Given the description of an element on the screen output the (x, y) to click on. 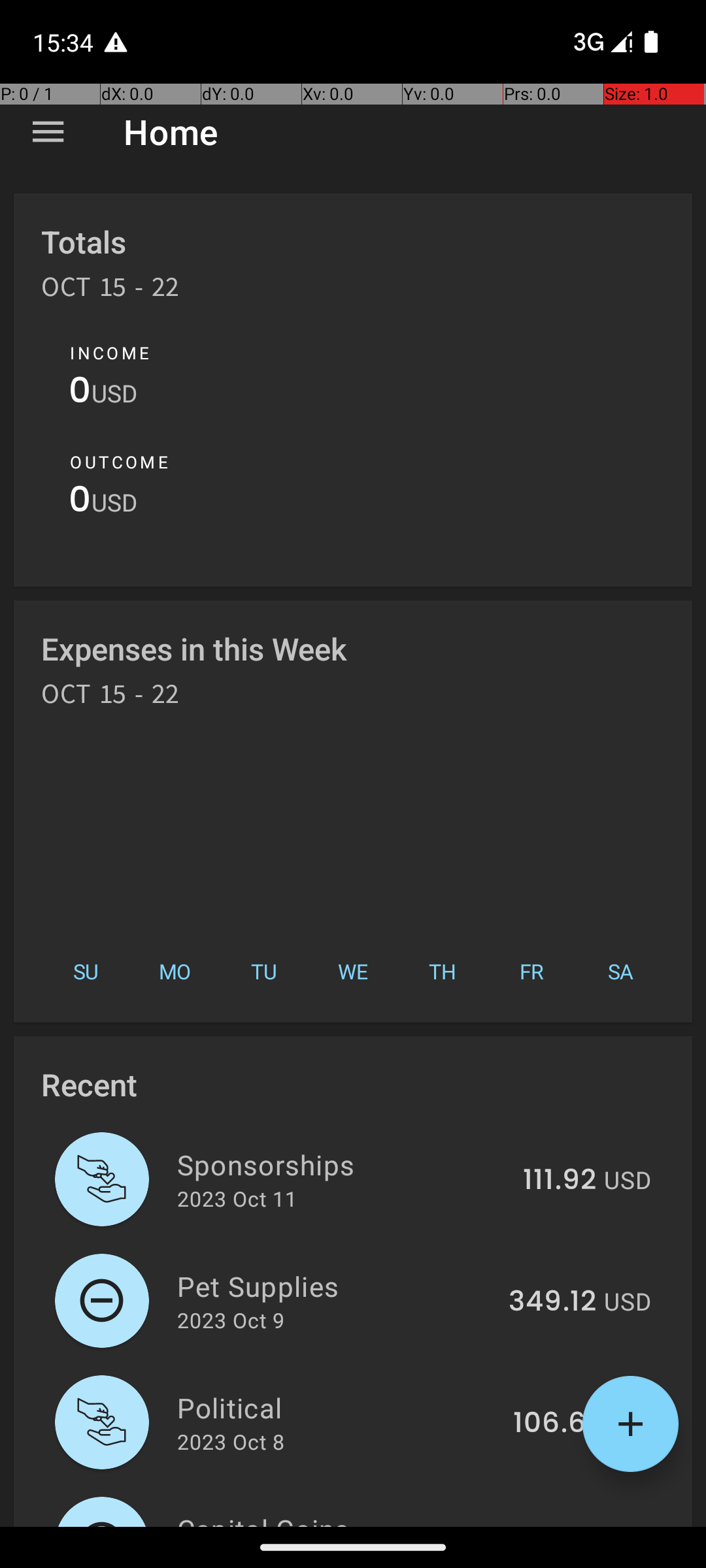
Sponsorships Element type: android.widget.TextView (342, 1164)
2023 Oct 11 Element type: android.widget.TextView (236, 1198)
111.92 Element type: android.widget.TextView (559, 1180)
Pet Supplies Element type: android.widget.TextView (335, 1285)
2023 Oct 9 Element type: android.widget.TextView (230, 1320)
349.12 Element type: android.widget.TextView (551, 1301)
Political Element type: android.widget.TextView (337, 1407)
2023 Oct 8 Element type: android.widget.TextView (230, 1441)
106.61 Element type: android.widget.TextView (554, 1423)
Capital Gains Element type: android.widget.TextView (342, 1518)
54.14 Element type: android.widget.TextView (559, 1524)
